Given the description of an element on the screen output the (x, y) to click on. 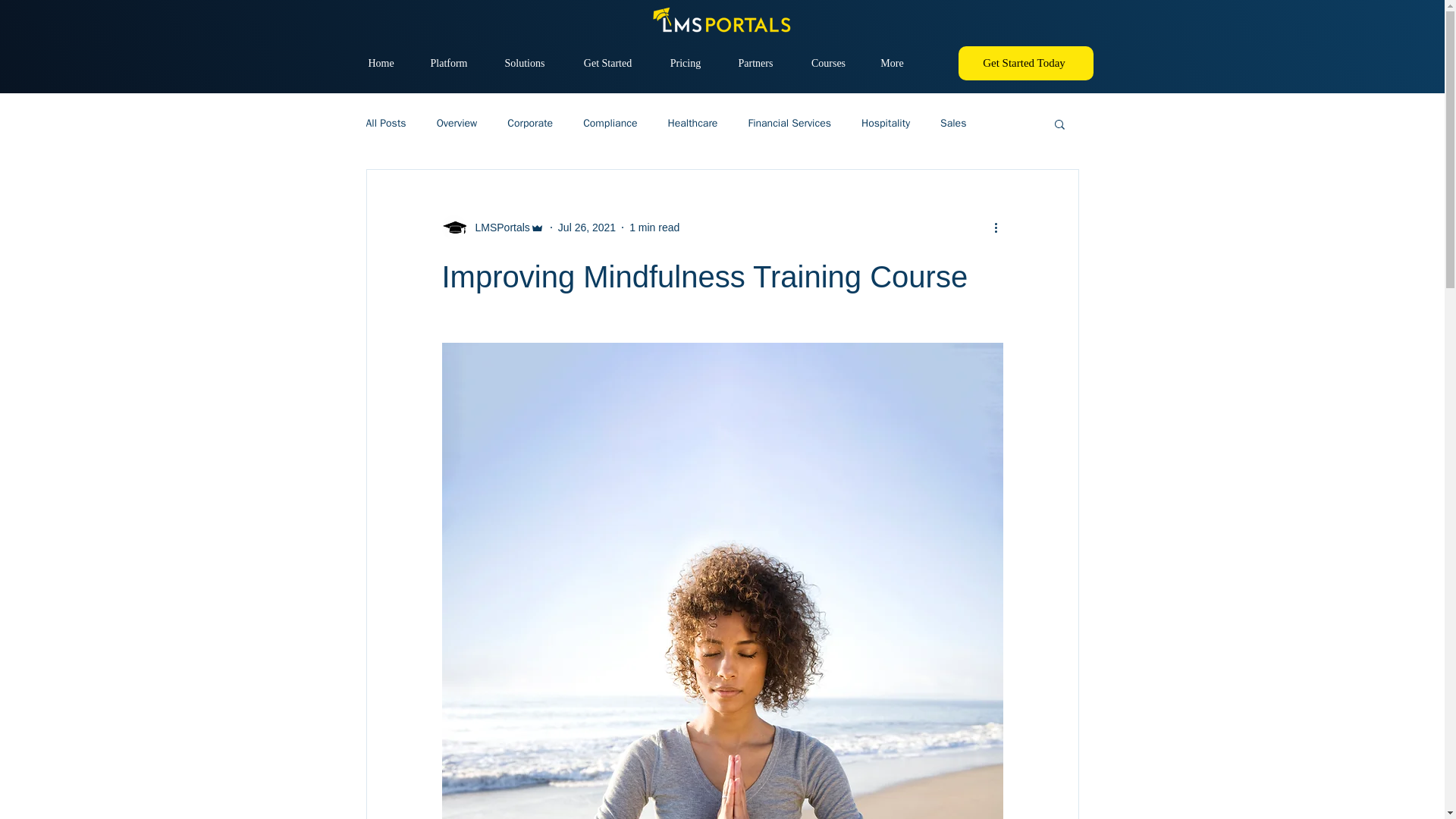
Corporate (529, 123)
LMSPortals (497, 227)
Platform (448, 63)
Pricing (684, 63)
All Posts (385, 123)
Financial Services (789, 123)
Healthcare (691, 123)
Home (380, 63)
Get Started Today (1025, 62)
LMSPortals (492, 227)
